Given the description of an element on the screen output the (x, y) to click on. 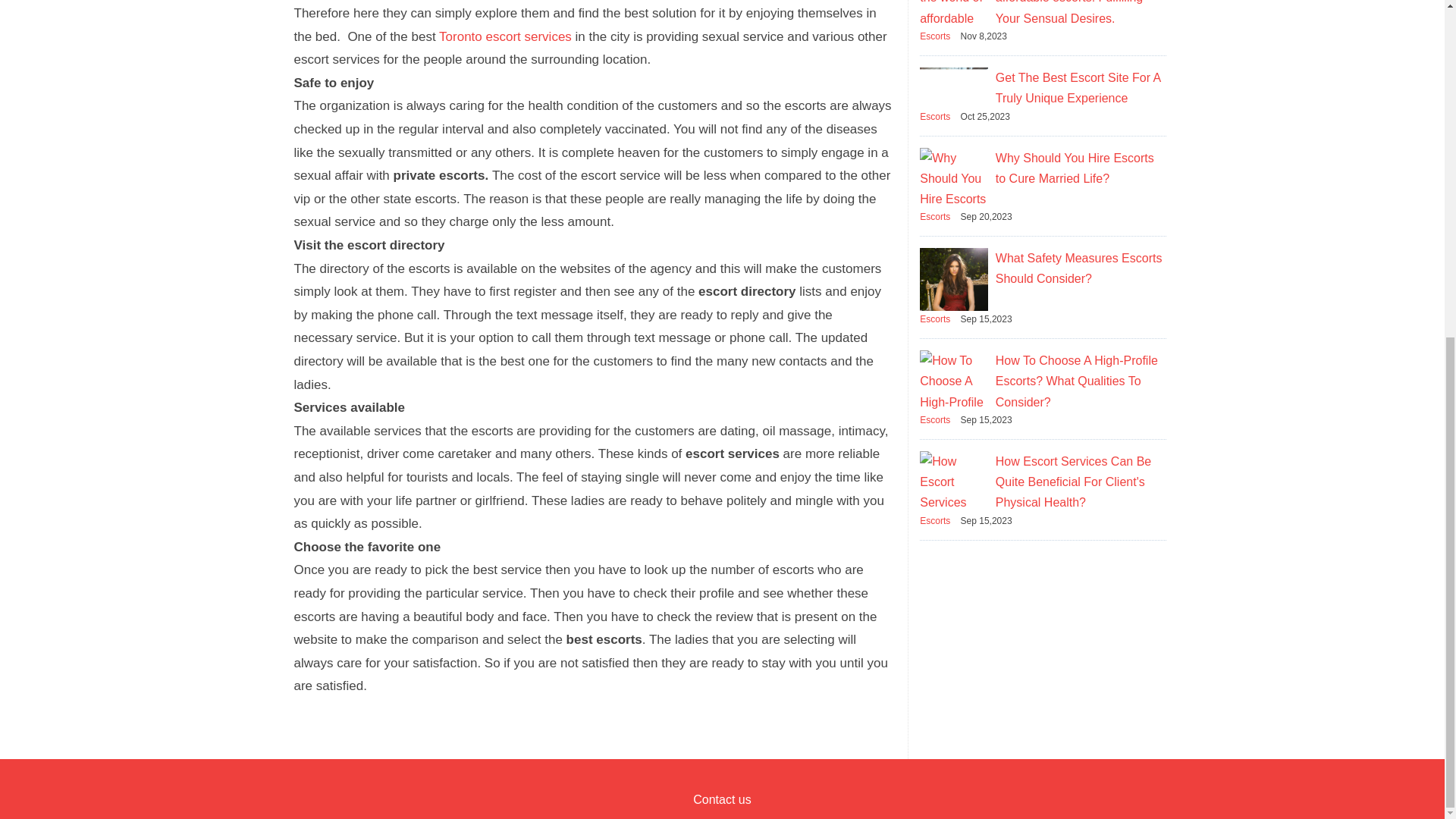
Get The Best Escort Site For A Truly Unique Experience (1077, 87)
Escorts (935, 36)
Toronto escort services (505, 36)
Contact us (722, 799)
Escorts (935, 216)
Escorts (935, 419)
What Safety Measures Escorts Should Consider? (1078, 268)
Escorts (935, 318)
Why Should You Hire Escorts to Cure Married Life? (1074, 168)
Escorts (935, 116)
Escorts (935, 520)
